Given the description of an element on the screen output the (x, y) to click on. 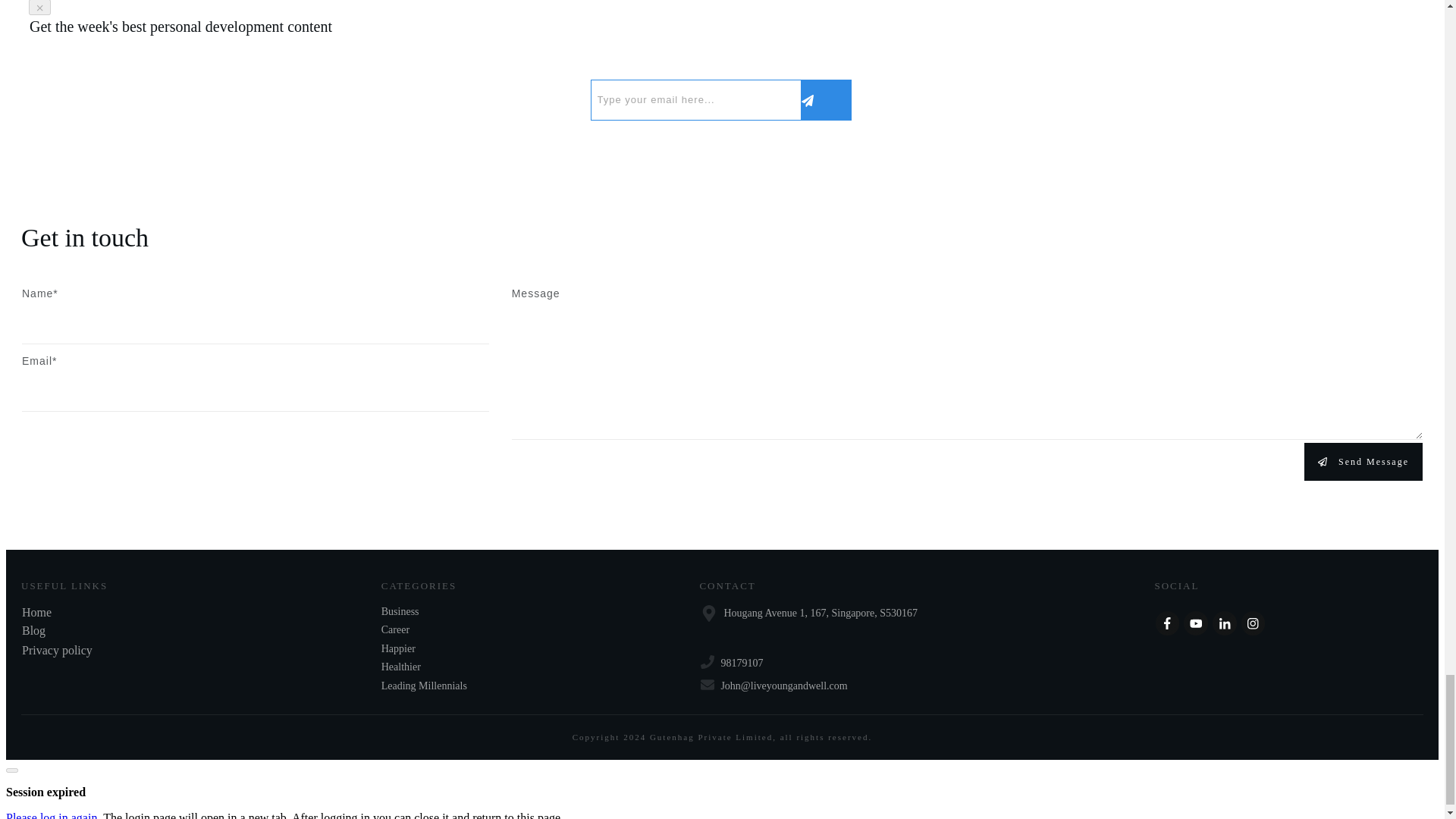
Home (35, 612)
Send Message (1363, 461)
